Given the description of an element on the screen output the (x, y) to click on. 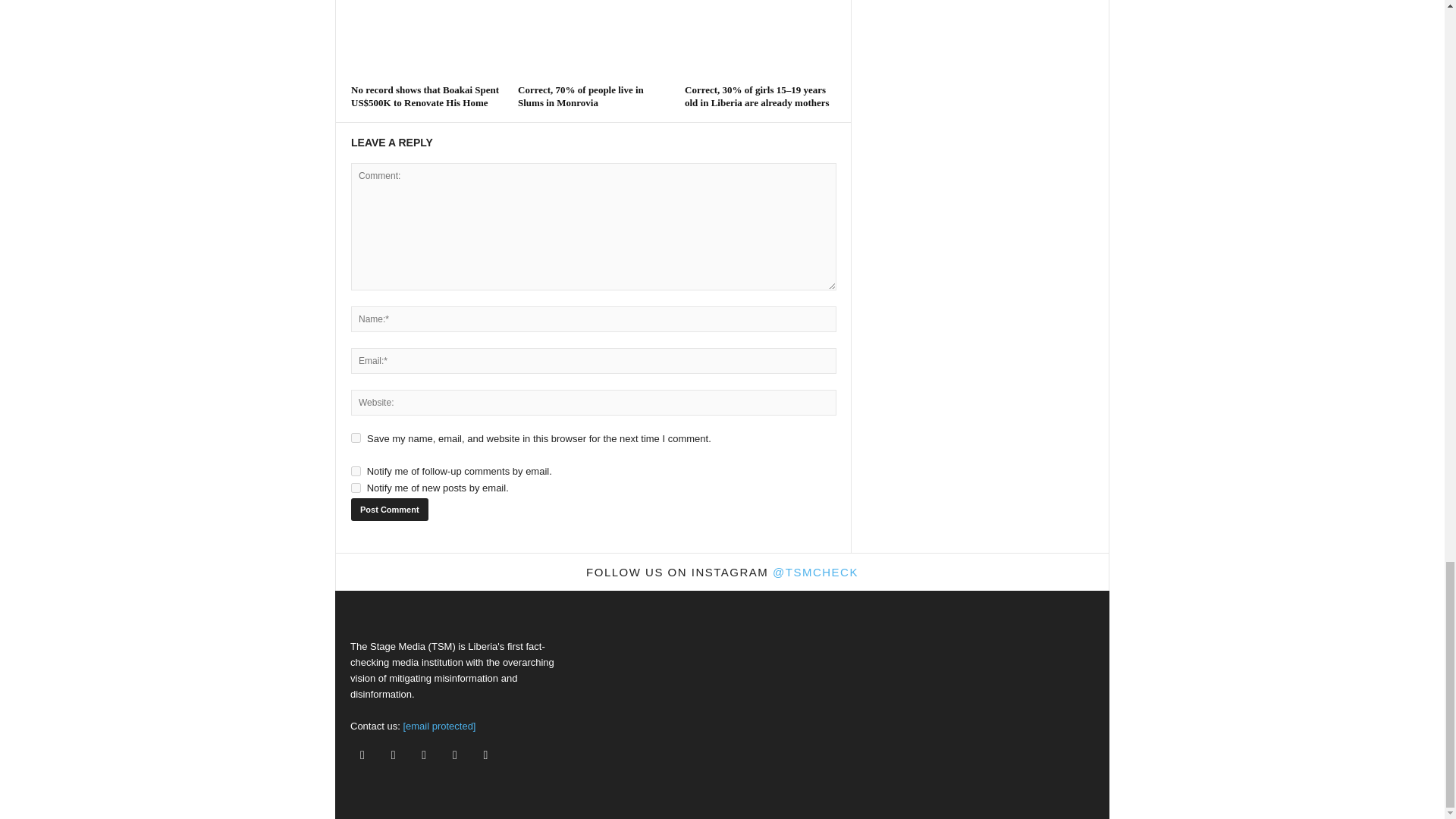
yes (355, 438)
subscribe (355, 470)
subscribe (355, 488)
Post Comment (389, 508)
